Given the description of an element on the screen output the (x, y) to click on. 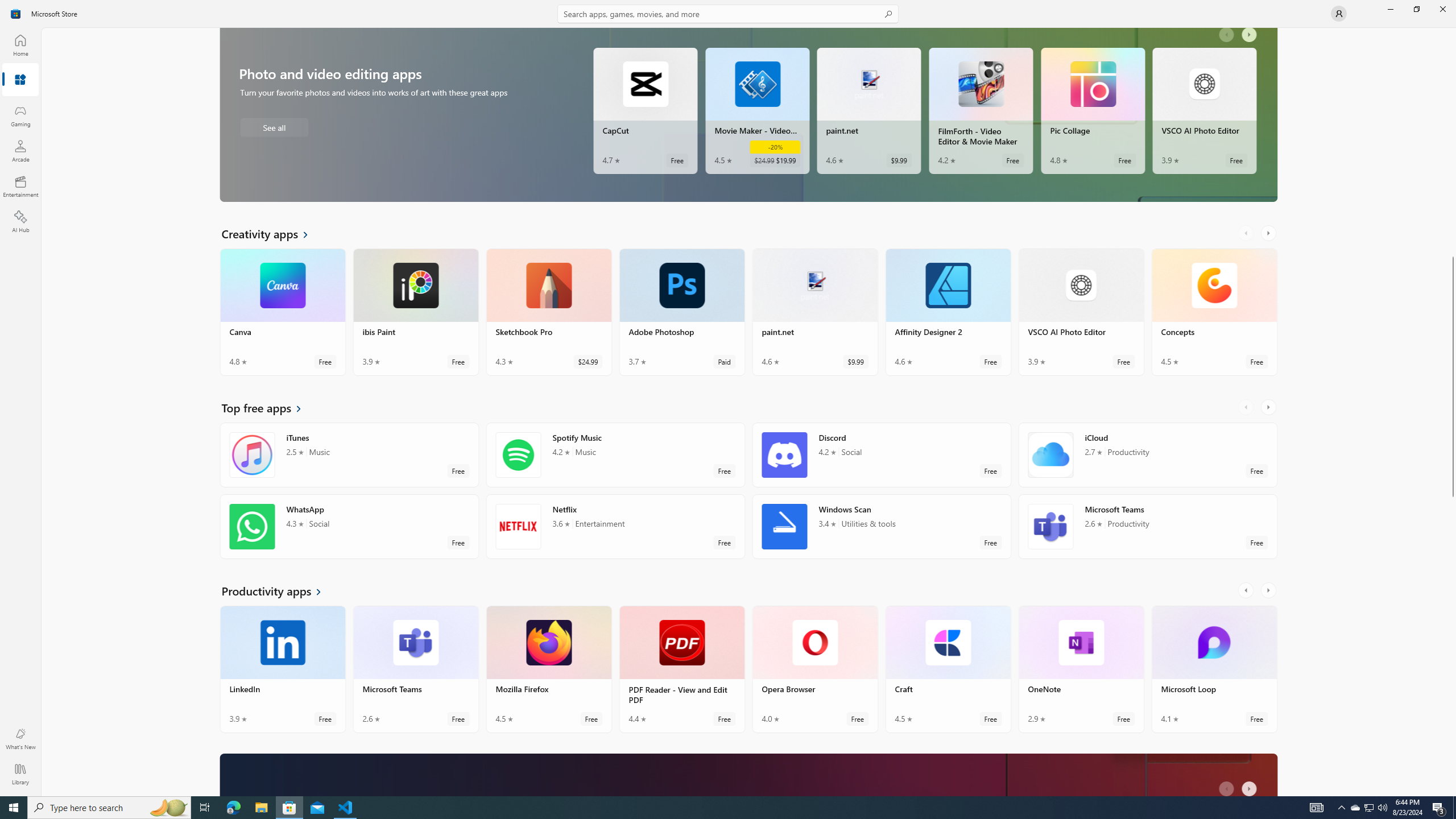
Discord. Average rating of 4.2 out of five stars. Free   (881, 454)
Canva. Average rating of 4.8 out of five stars. Free   (282, 311)
WhatsApp. Average rating of 4.3 out of five stars. Free   (349, 526)
Vertical Small Decrease (1452, 31)
Pic Collage. Average rating of 4.8 out of five stars. Free   (1092, 110)
